Given the description of an element on the screen output the (x, y) to click on. 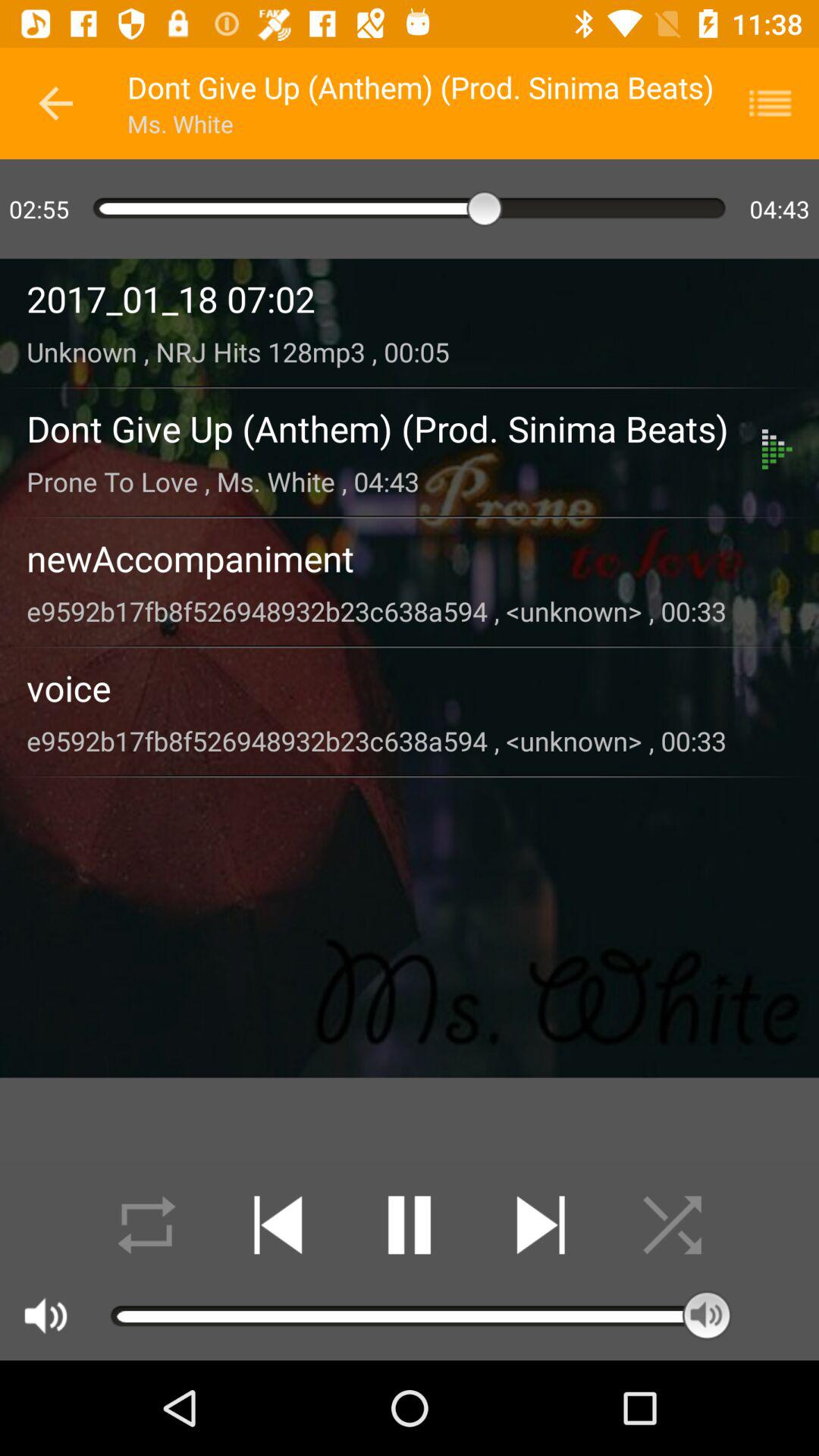
menu (779, 103)
